Given the description of an element on the screen output the (x, y) to click on. 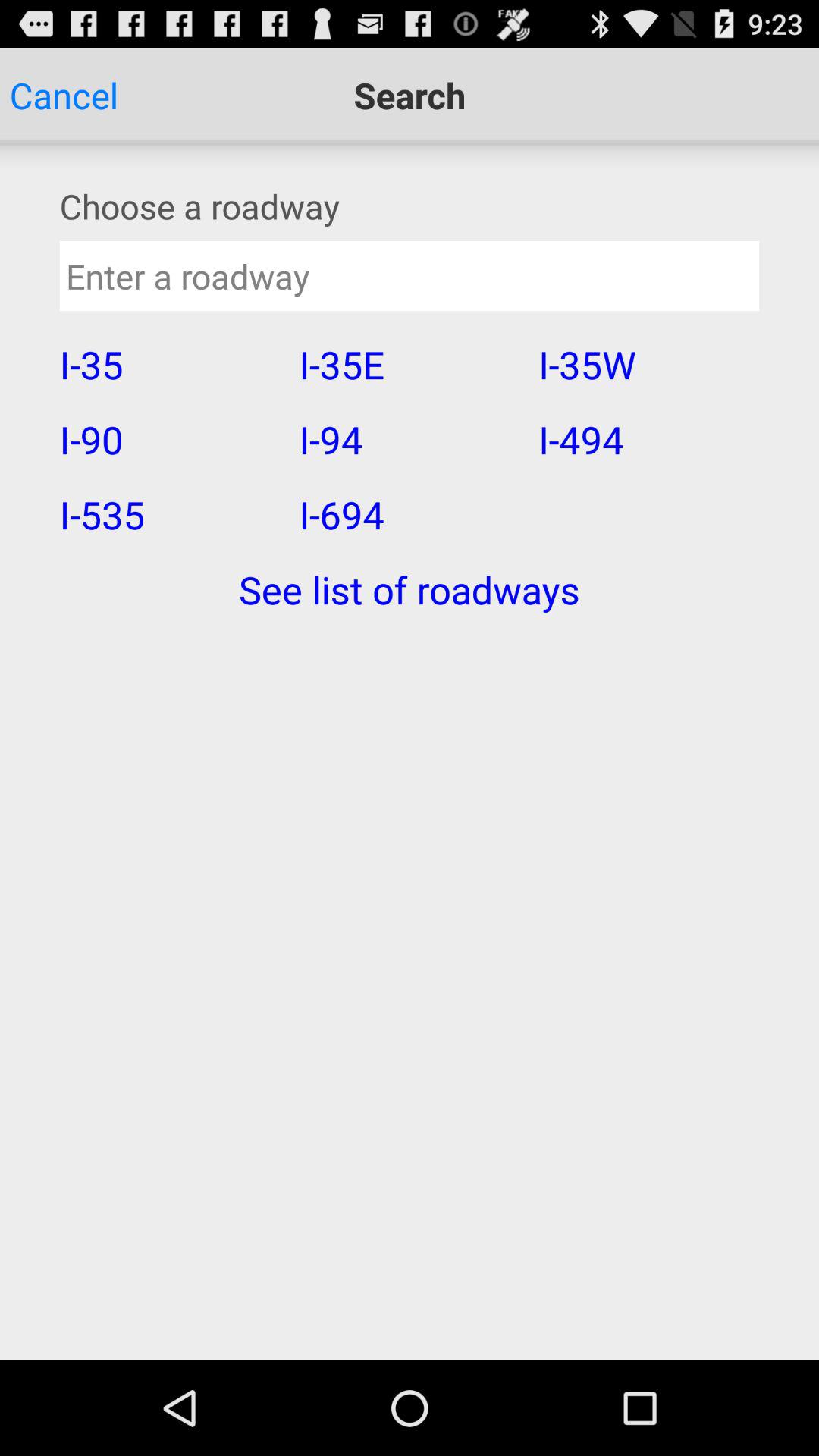
click the item to the right of i-35e item (648, 439)
